Given the description of an element on the screen output the (x, y) to click on. 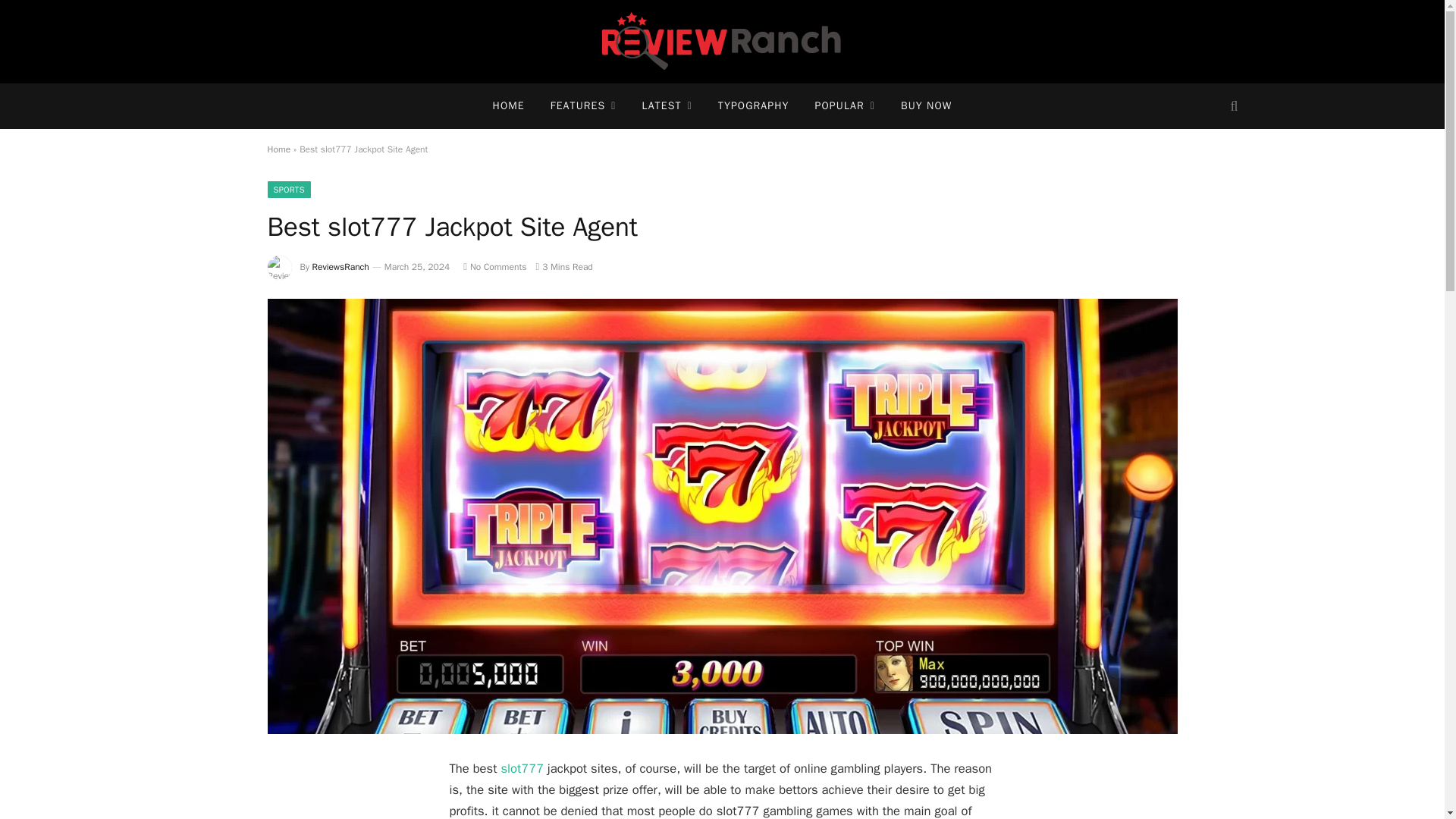
TYPOGRAPHY (753, 105)
Reviews Ranch (721, 41)
HOME (508, 105)
POPULAR (845, 105)
FEATURES (582, 105)
LATEST (666, 105)
